Given the description of an element on the screen output the (x, y) to click on. 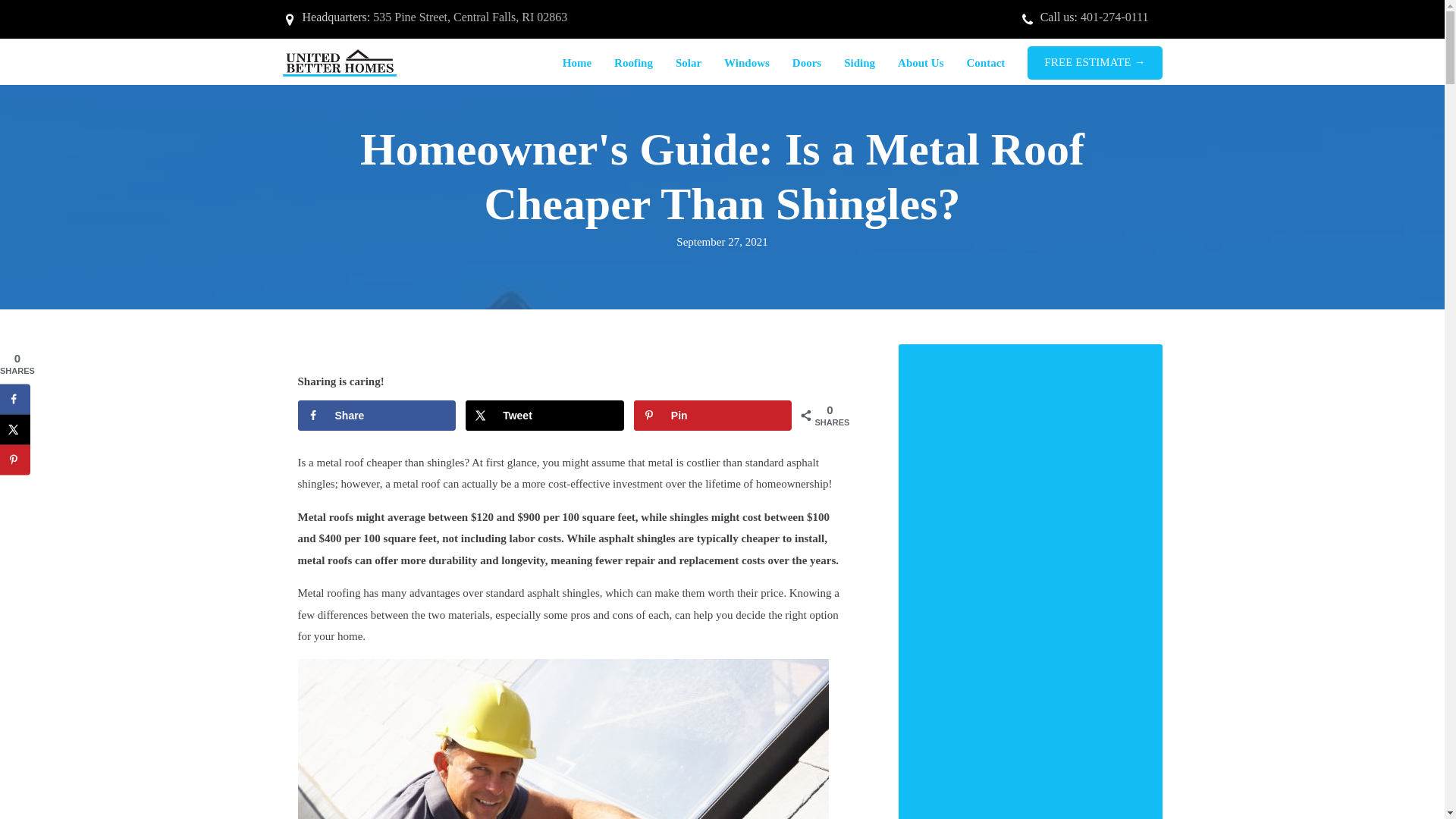
Windows (746, 63)
Roofing (632, 63)
Siding (859, 63)
Save to Pinterest (15, 459)
Share on X (544, 415)
Share on Facebook (15, 399)
Doors (806, 63)
Share on X (15, 429)
Share on Facebook (376, 415)
About Us (920, 63)
Home (576, 63)
Solar (688, 63)
401-274-0111 (1114, 17)
Save to Pinterest (712, 415)
